Given the description of an element on the screen output the (x, y) to click on. 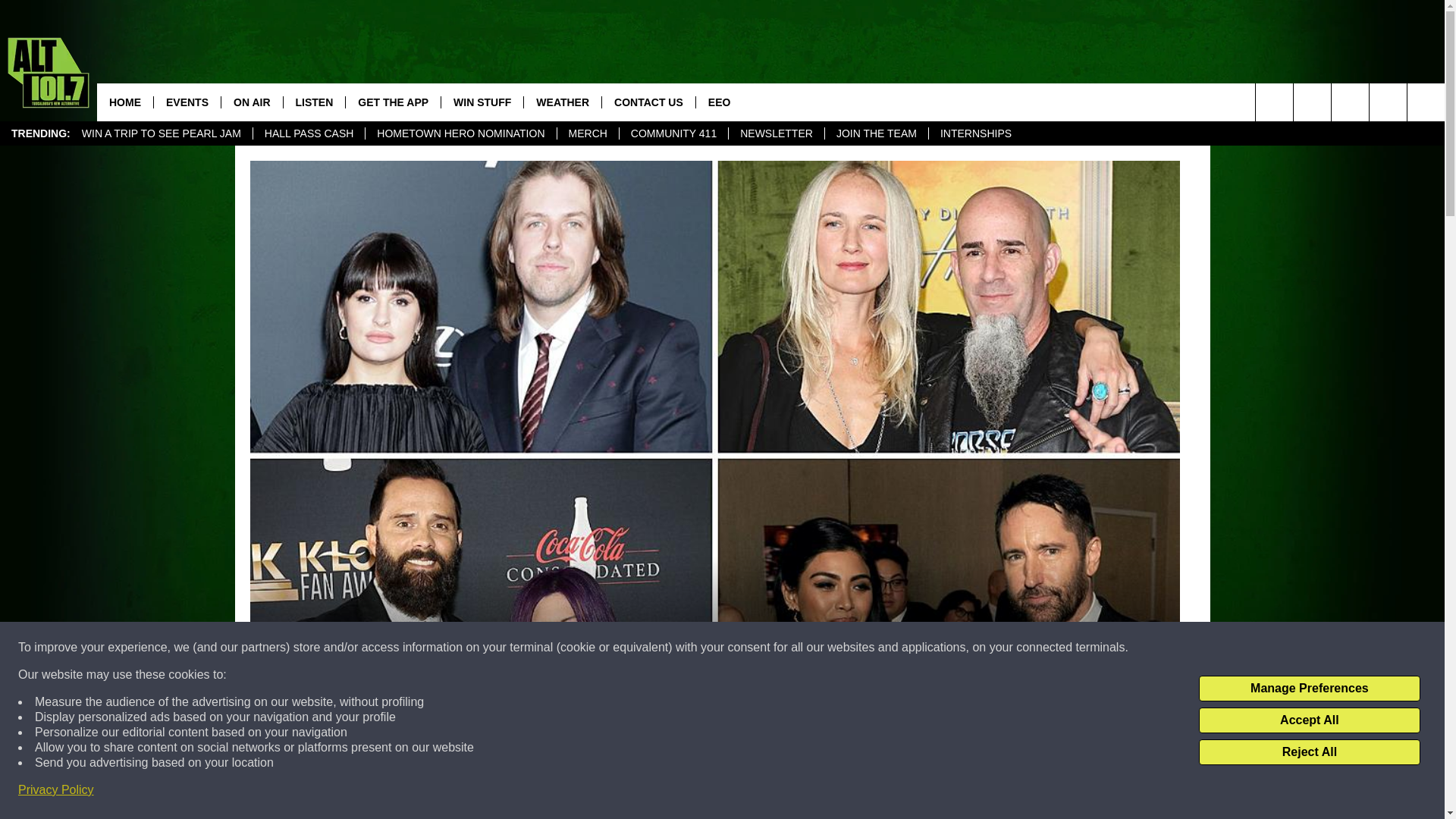
NEWSLETTER (776, 133)
Manage Preferences (1309, 688)
HOMETOWN HERO NOMINATION (460, 133)
ON AIR (251, 102)
LISTEN (313, 102)
GET THE APP (393, 102)
EVENTS (186, 102)
Accept All (1309, 720)
HOME (124, 102)
Reject All (1309, 751)
COMMUNITY 411 (673, 133)
Privacy Policy (55, 789)
MERCH (587, 133)
TWEET (912, 791)
HALL PASS CASH (308, 133)
